Given the description of an element on the screen output the (x, y) to click on. 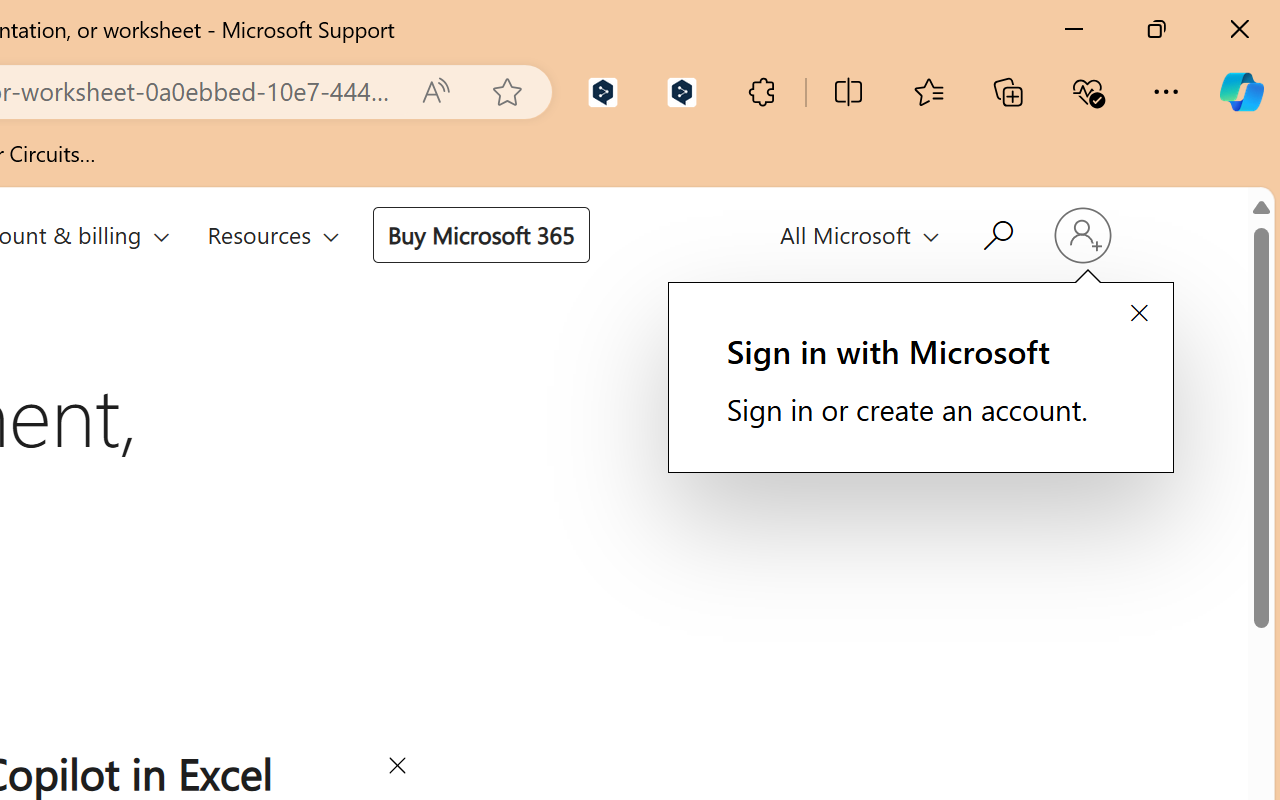
Copilot (Ctrl+Shift+.) (1241, 91)
Close Ad (396, 769)
Sign in to your account (1082, 235)
Buy Microsoft 365 (480, 234)
Buy Microsoft 365 (480, 234)
Search for help (995, 232)
